Given the description of an element on the screen output the (x, y) to click on. 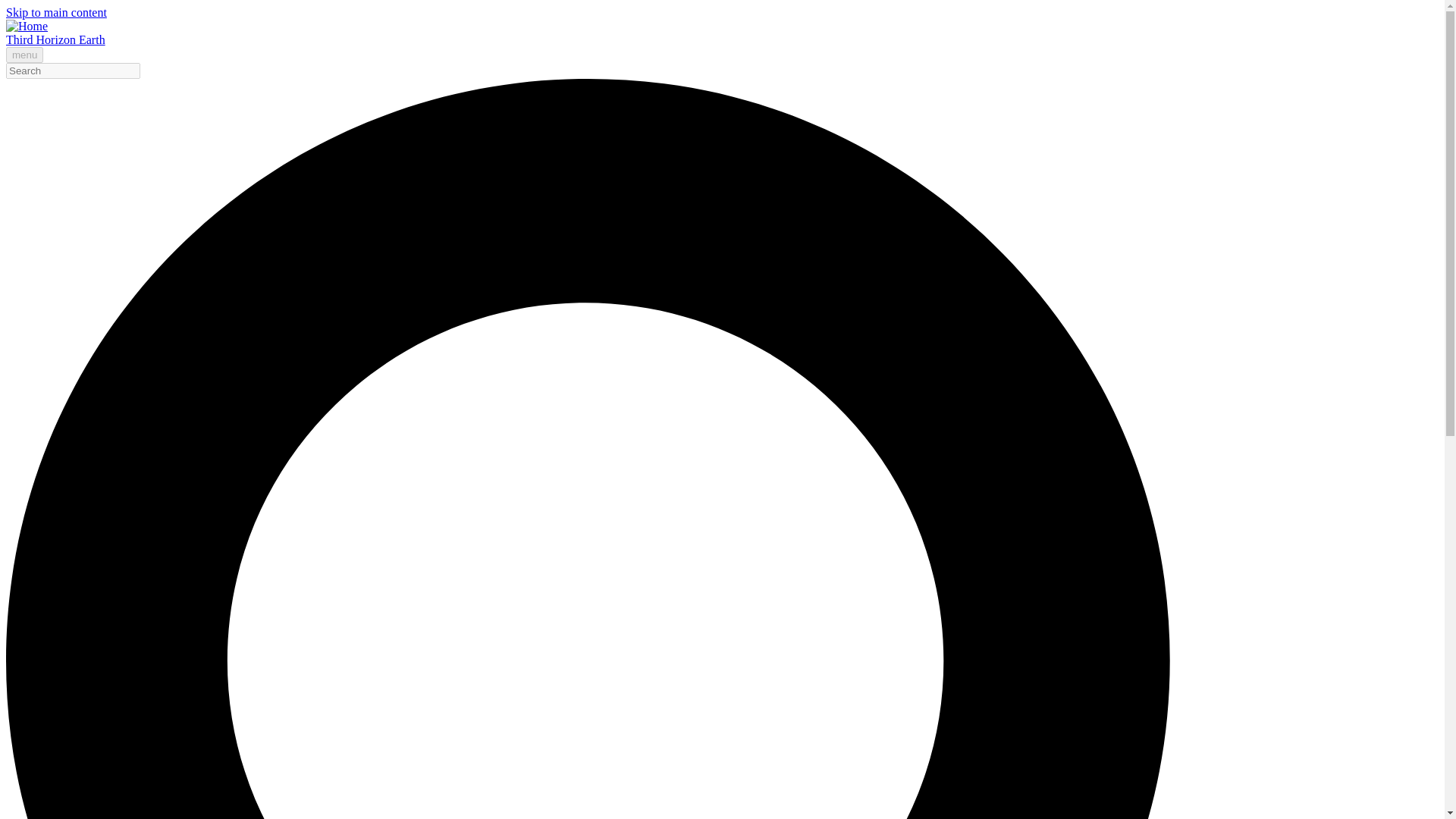
menu (24, 54)
Third Horizon Earth (54, 39)
Skip to main content (55, 11)
